Given the description of an element on the screen output the (x, y) to click on. 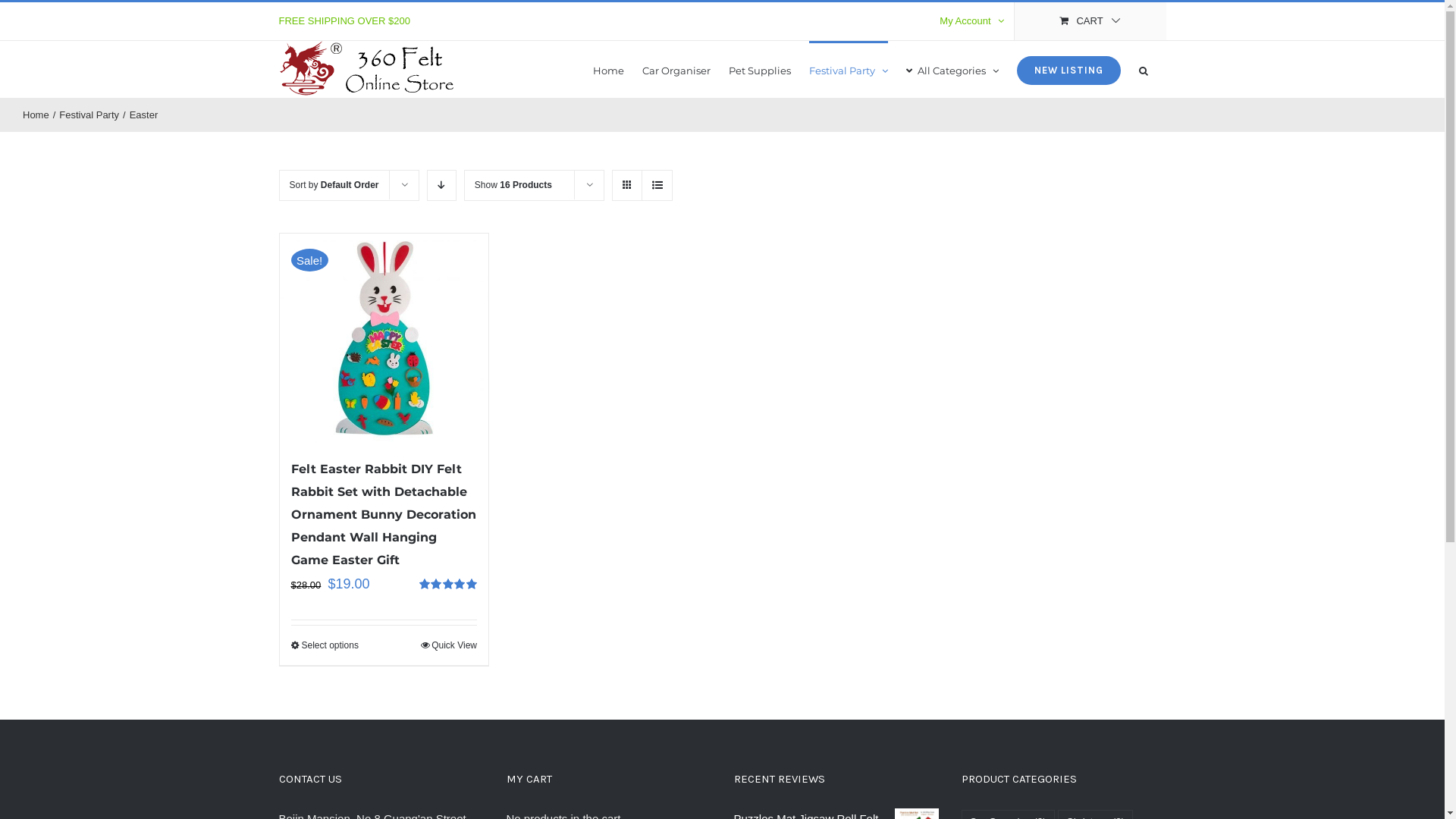
Festival Party Element type: text (848, 68)
Car Organiser Element type: text (676, 68)
My Account Element type: text (971, 21)
All Categories Element type: text (952, 68)
Pet Supplies Element type: text (759, 68)
Log In Element type: text (1033, 165)
Home Element type: text (608, 68)
NEW LISTING Element type: text (1068, 68)
Select options Element type: text (324, 645)
Sort by Default Order Element type: text (334, 184)
Show 16 Products Element type: text (513, 184)
CART Element type: text (1090, 21)
Festival Party Element type: text (89, 114)
Quick View Element type: text (448, 645)
Sale! Element type: text (383, 337)
Search Element type: hover (1143, 68)
Home Element type: text (35, 114)
